Given the description of an element on the screen output the (x, y) to click on. 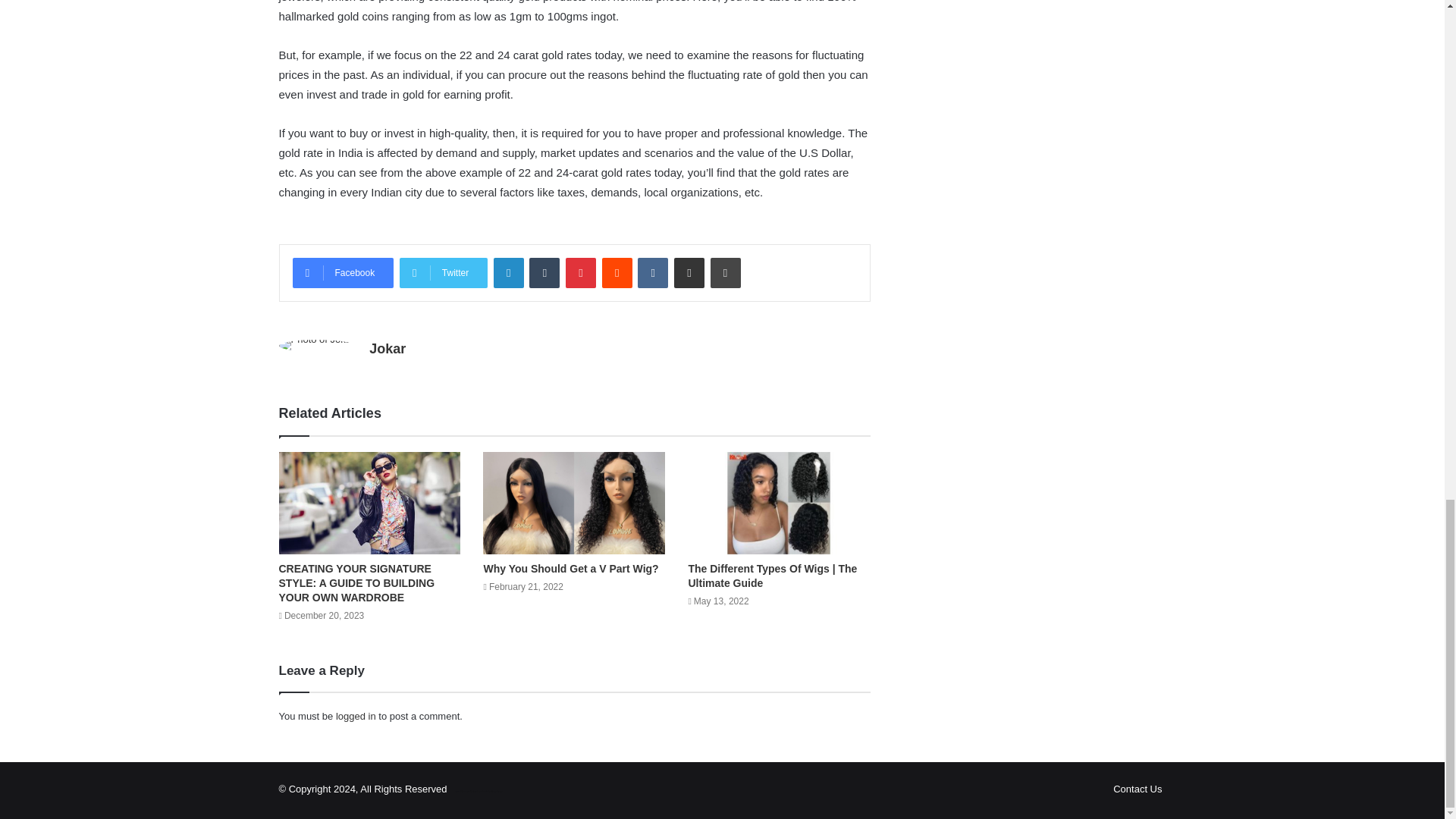
Facebook (343, 272)
LinkedIn (508, 272)
Pinterest (580, 272)
Print (725, 272)
Tumblr (544, 272)
Reddit (616, 272)
Why You Should Get a V Part Wig? (570, 568)
Reddit (616, 272)
Twitter (442, 272)
Print (725, 272)
Tumblr (544, 272)
Jokar (387, 348)
Facebook (343, 272)
LinkedIn (508, 272)
